Given the description of an element on the screen output the (x, y) to click on. 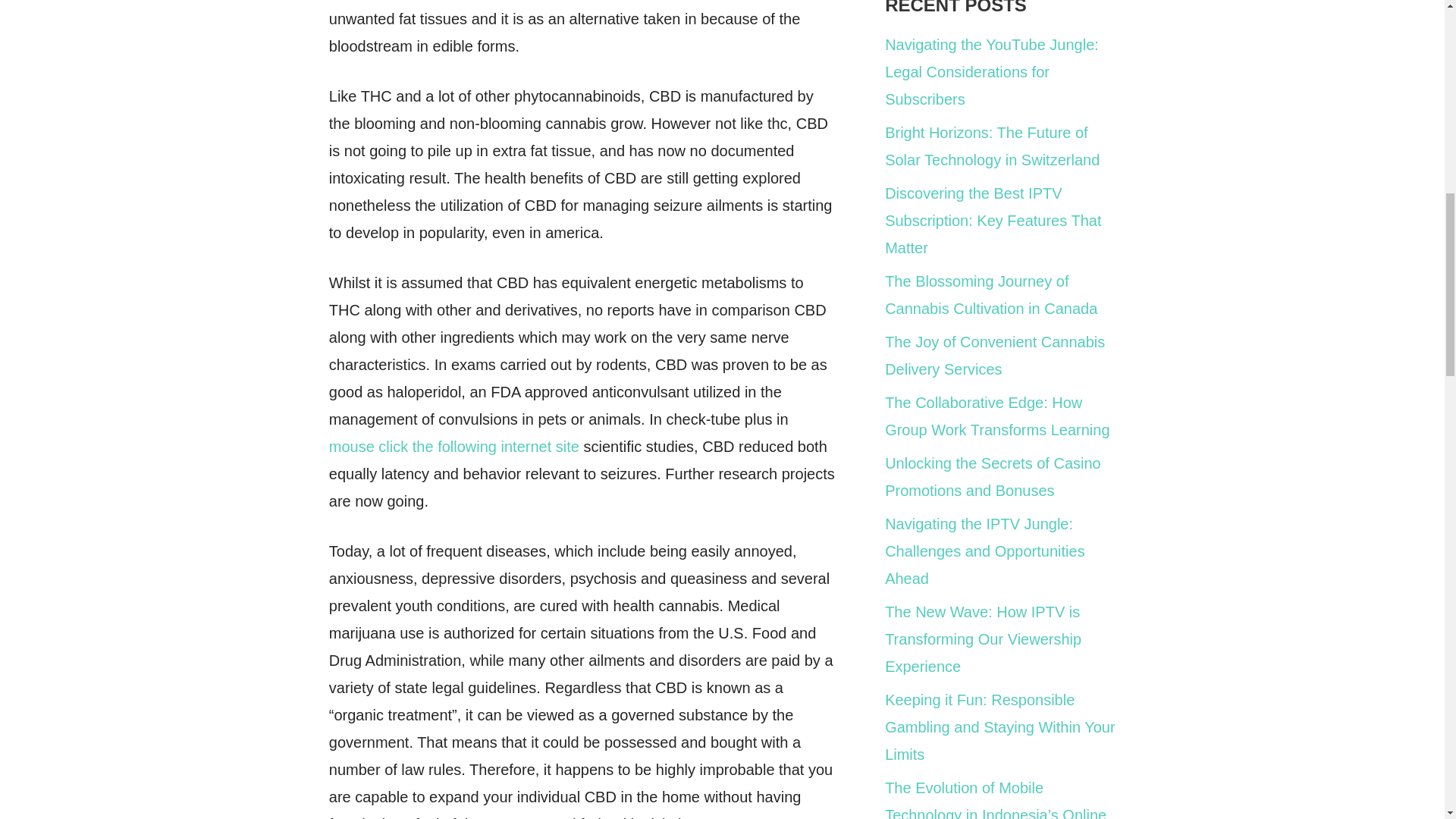
The Collaborative Edge: How Group Work Transforms Learning (997, 415)
Unlocking the Secrets of Casino Promotions and Bonuses (992, 476)
The Joy of Convenient Cannabis Delivery Services (995, 355)
mouse click the following internet site (454, 446)
